Given the description of an element on the screen output the (x, y) to click on. 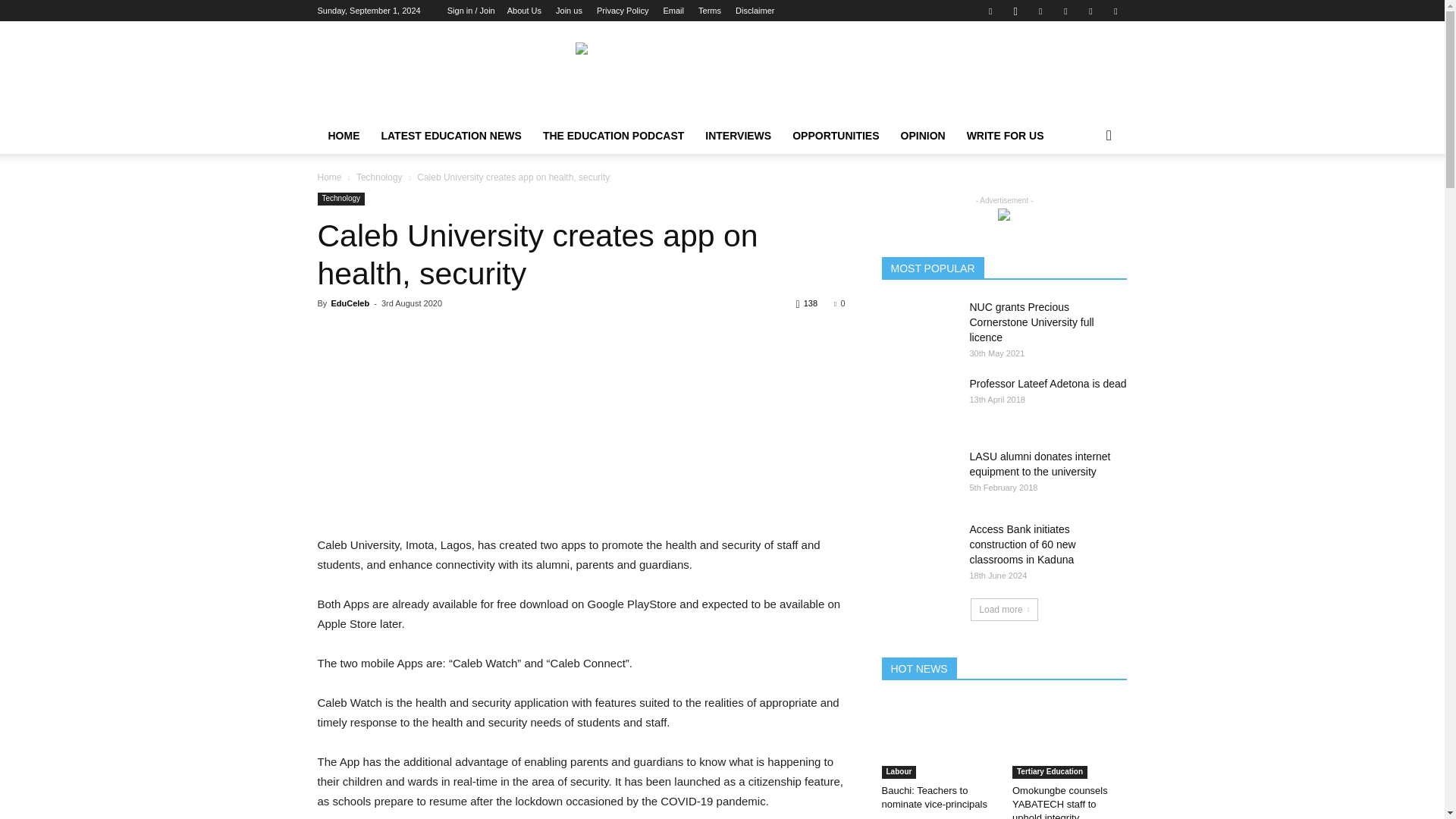
Privacy Policy (621, 10)
Email (673, 10)
About Us (523, 10)
Mail (1065, 10)
Instagram (1015, 10)
View all posts in Technology (379, 176)
Twitter (1090, 10)
Terms (709, 10)
Youtube (1114, 10)
Join us (569, 10)
